Given the description of an element on the screen output the (x, y) to click on. 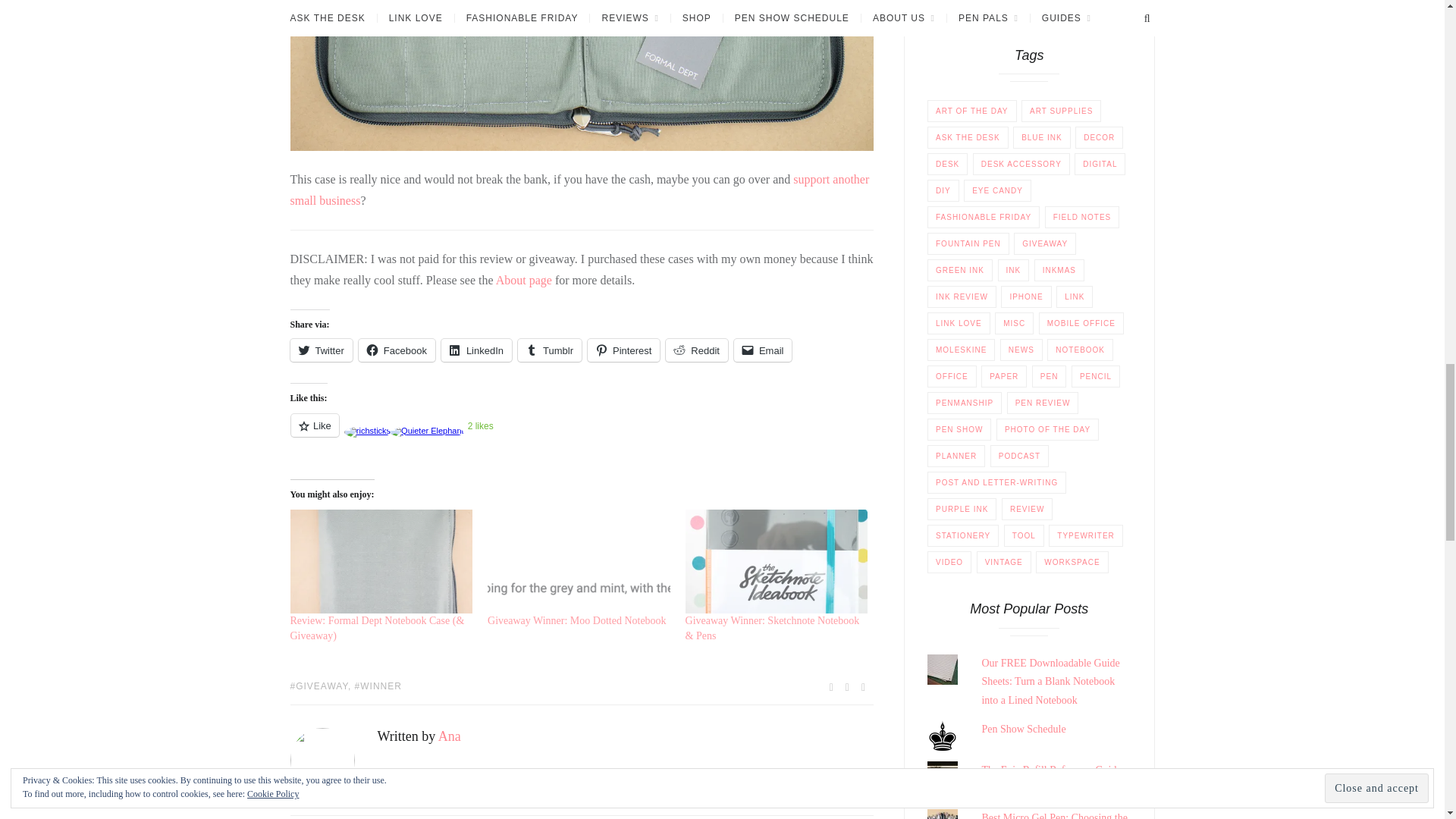
Click to share on Reddit (696, 350)
Facebook (396, 350)
Click to share on Tumblr (549, 350)
support another small business (579, 189)
LinkedIn (476, 350)
About page (523, 279)
Click to share on Facebook (396, 350)
Twitter (320, 350)
Tumblr (549, 350)
Giveaway Winner: Moo Dotted Notebook (576, 620)
Click to share on LinkedIn (476, 350)
Click to email a link to a friend (762, 350)
Click to share on Pinterest (623, 350)
Like or Reblog (581, 434)
Giveaway Winner: Moo Dotted Notebook (578, 561)
